Given the description of an element on the screen output the (x, y) to click on. 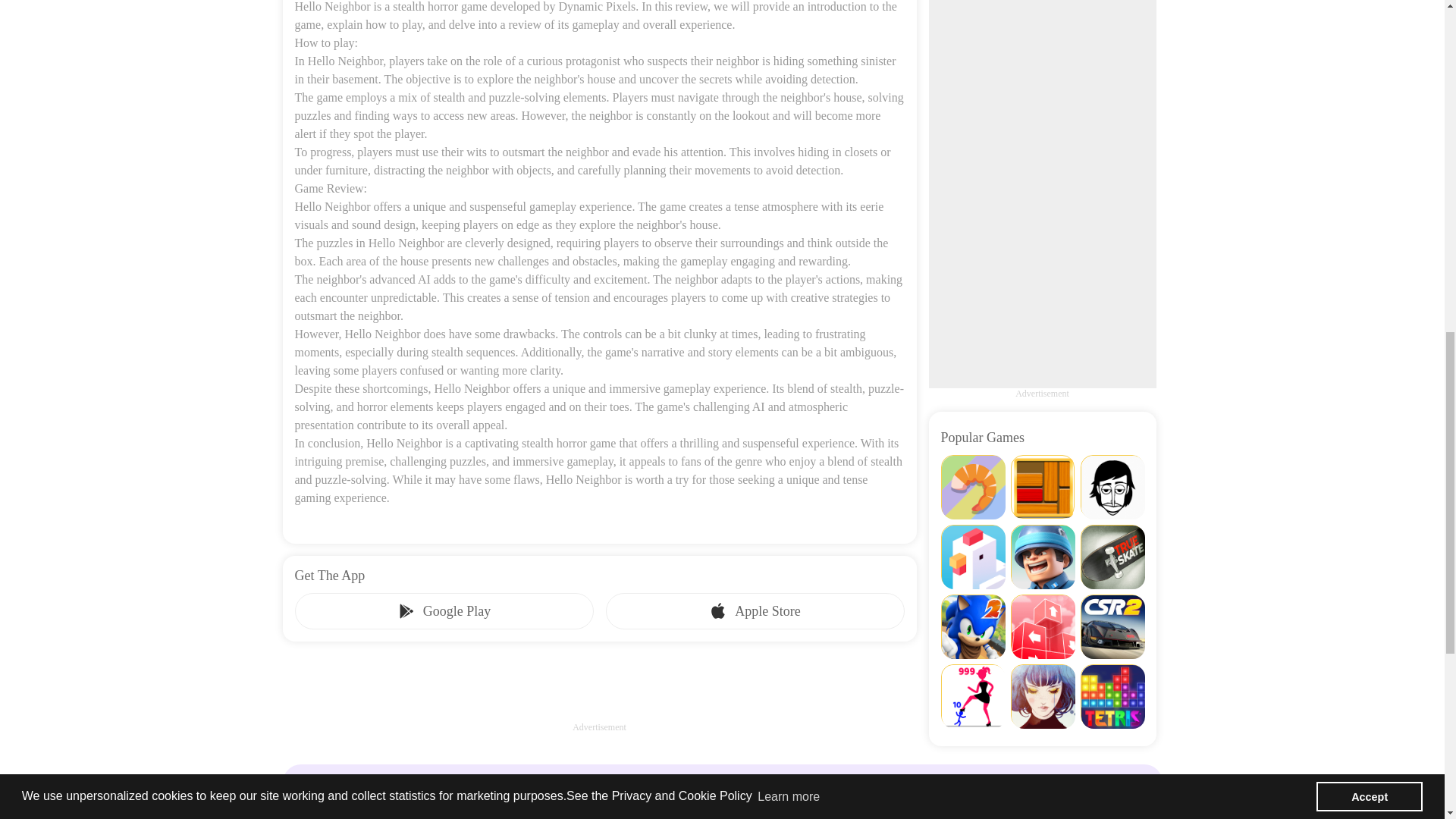
You May Also Like (721, 782)
Apple Store (754, 610)
Google Play (443, 610)
